Given the description of an element on the screen output the (x, y) to click on. 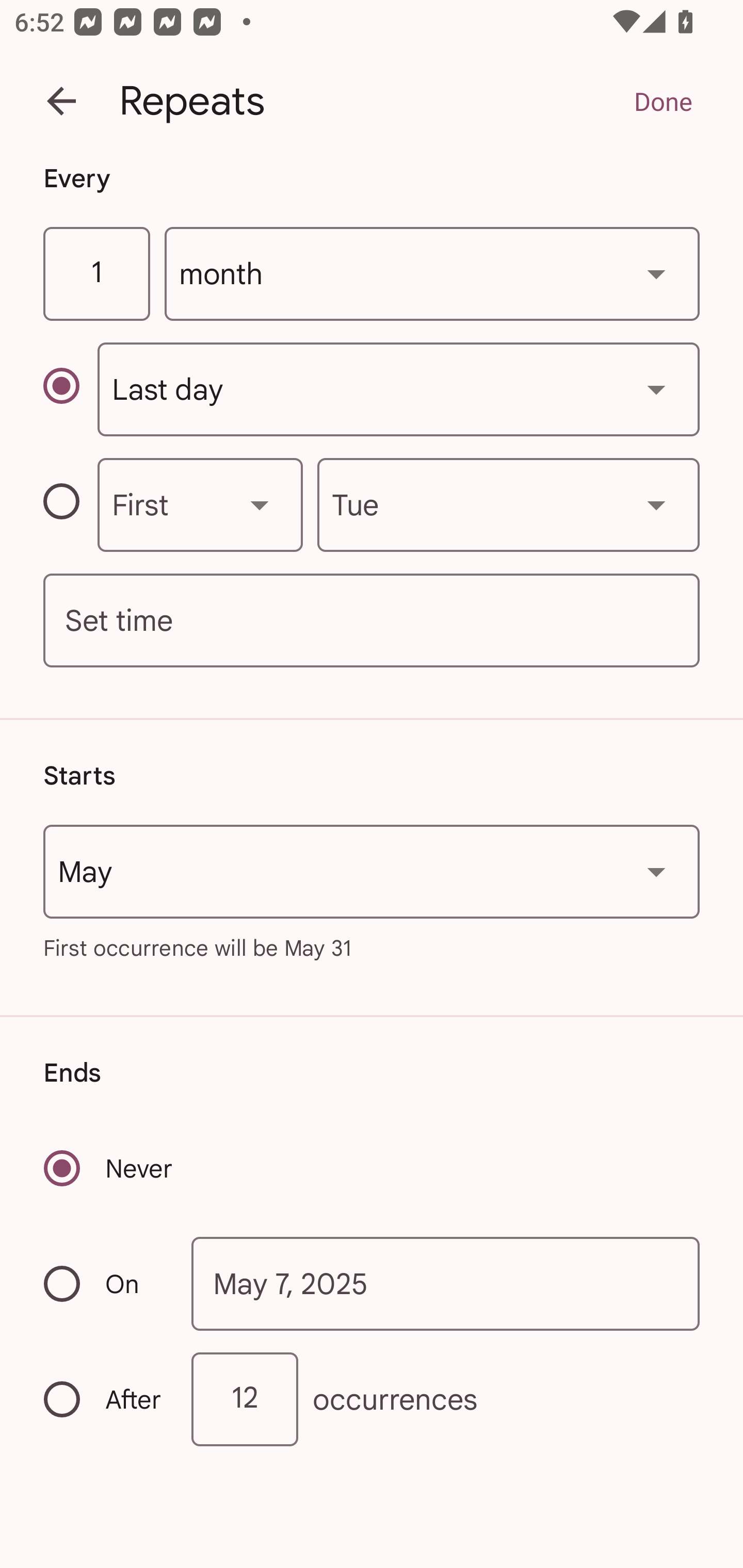
Back (61, 101)
Done (663, 101)
1 (96, 274)
month (431, 274)
Show dropdown menu (655, 273)
Last day (398, 388)
Show dropdown menu (655, 389)
Repeat monthly on a specific day of the month (70, 389)
First (200, 504)
Tue (508, 504)
Show dropdown menu (259, 504)
Show dropdown menu (655, 504)
Repeat monthly on a specific weekday (70, 504)
Set time (371, 620)
May (371, 871)
Show dropdown menu (655, 871)
Never Recurrence never ends (109, 1168)
May 7, 2025 (445, 1284)
On Recurrence ends on a specific date (104, 1283)
12 (244, 1398)
